Given the description of an element on the screen output the (x, y) to click on. 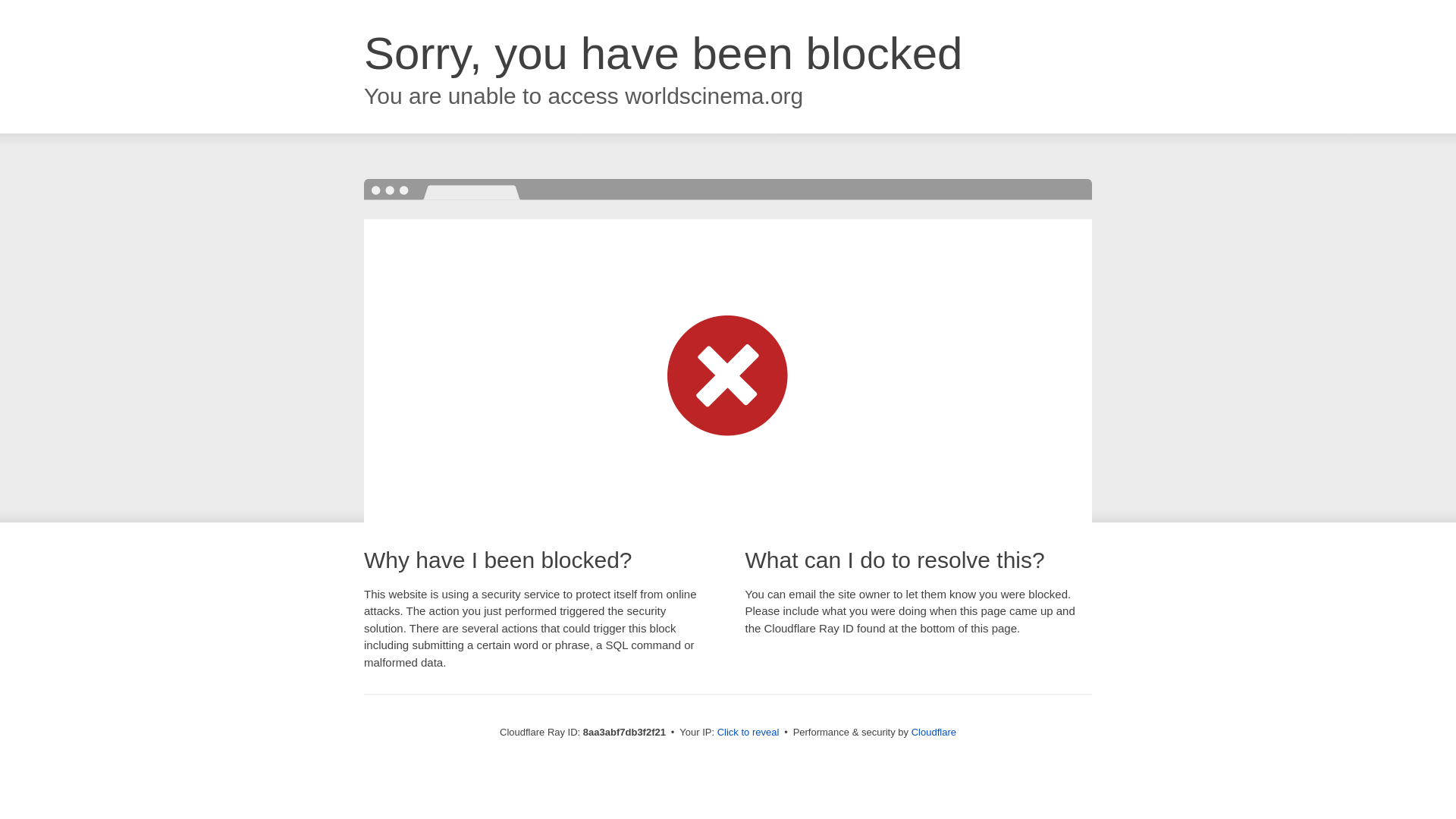
Click to reveal (747, 732)
Cloudflare (933, 731)
